Given the description of an element on the screen output the (x, y) to click on. 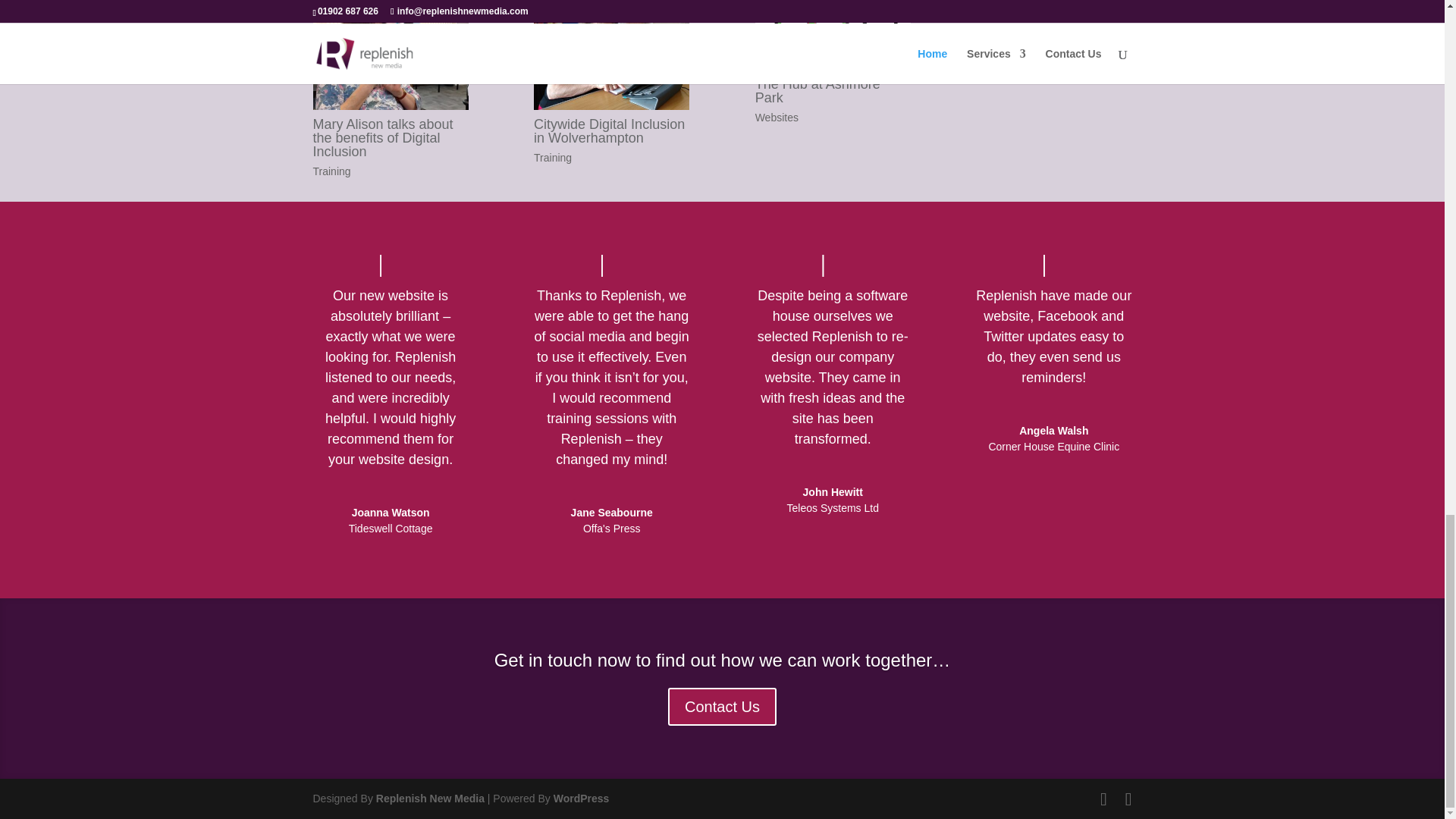
Training (331, 171)
Mary Alison talks about the benefits of Digital Inclusion (382, 137)
Offa's Press (611, 528)
Training (553, 157)
Mary Alison talks about the benefits of Digital Inclusion (382, 137)
Citywide Digital Inclusion in Wolverhampton (611, 55)
Contact Us (722, 714)
The Hub at Ashmore Park (833, 34)
Citywide Digital Inclusion in Wolverhampton (609, 131)
Training (331, 171)
